Given the description of an element on the screen output the (x, y) to click on. 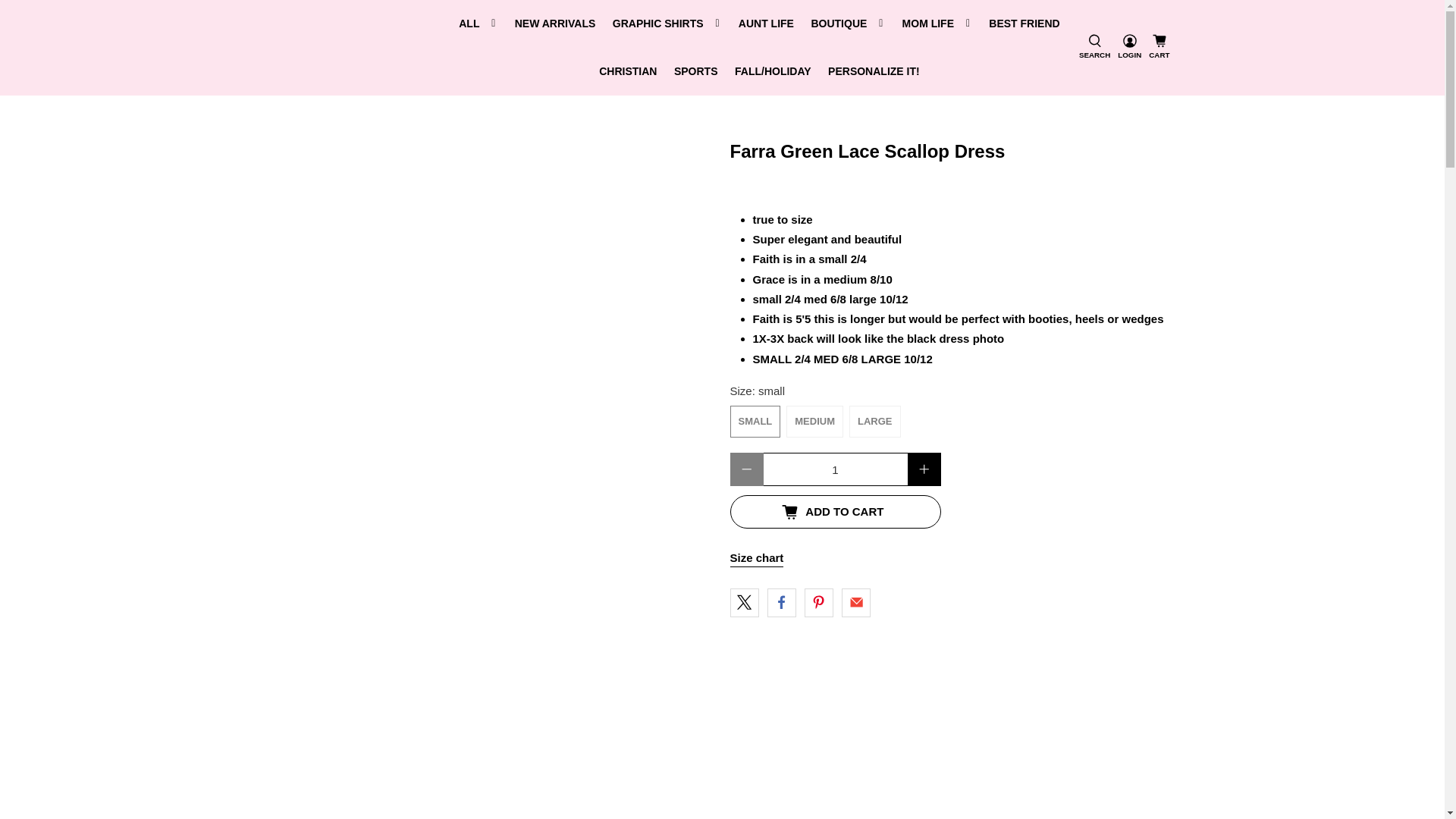
BOUTIQUE (847, 23)
NEW ARRIVALS (554, 23)
Share this on Facebook (781, 602)
Share this on X (743, 602)
Share this on Pinterest (818, 602)
ALL (477, 23)
AUNT LIFE (766, 23)
1 (834, 469)
Email this to a friend (855, 602)
GRAPHIC SHIRTS (667, 23)
Gabriel Clothing Company (359, 47)
